Given the description of an element on the screen output the (x, y) to click on. 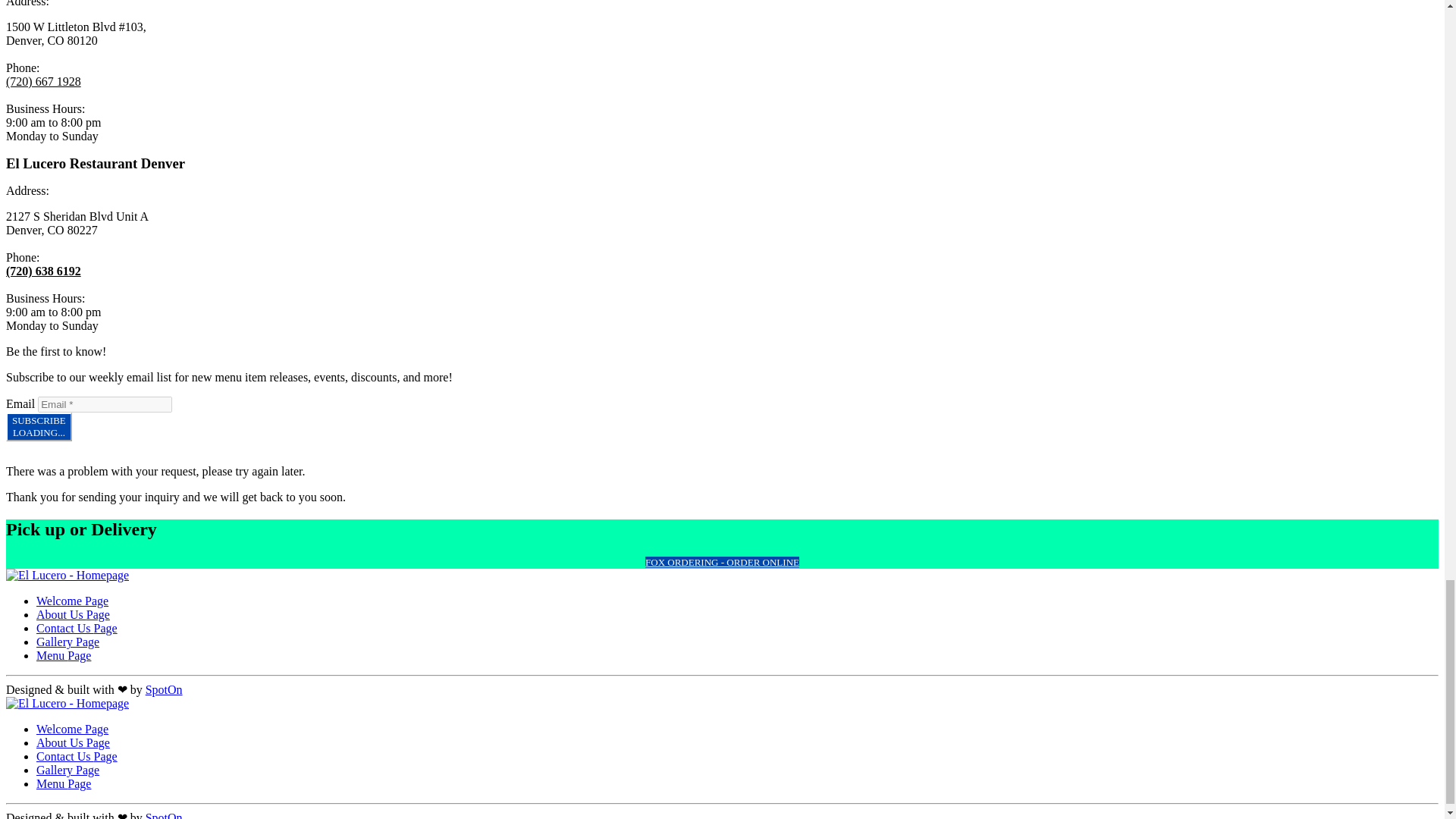
Welcome Page (71, 728)
Gallery Page (67, 769)
SpotOn (164, 689)
Contact Us Page (76, 627)
About Us Page (73, 614)
Welcome Page (38, 426)
Contact Us Page (71, 600)
About Us Page (76, 756)
Menu Page (73, 742)
